Given the description of an element on the screen output the (x, y) to click on. 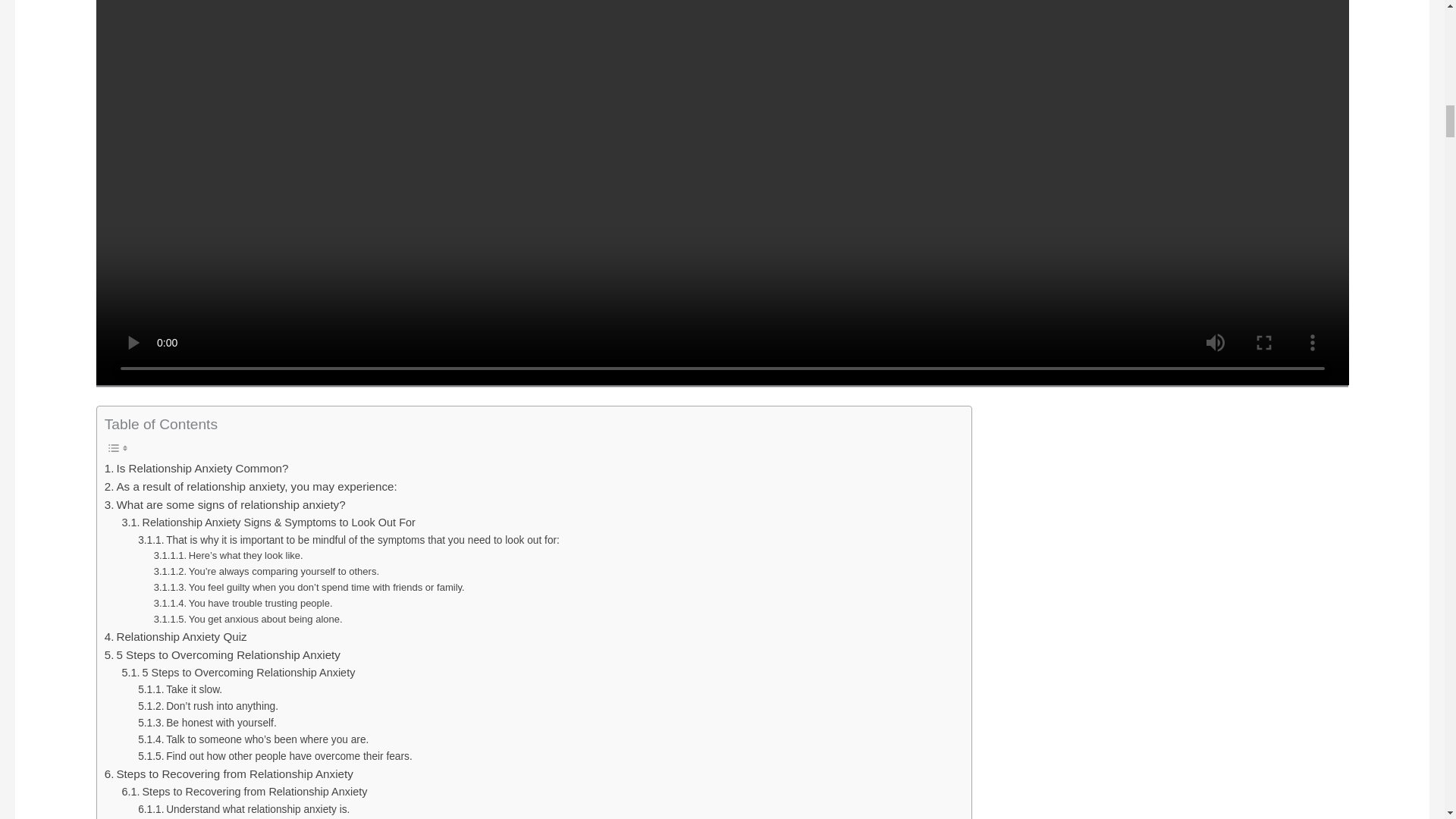
Is Relationship Anxiety Common? (196, 468)
As a result of relationship anxiety, you may experience: (250, 486)
What are some signs of relationship anxiety? (225, 505)
